Given the description of an element on the screen output the (x, y) to click on. 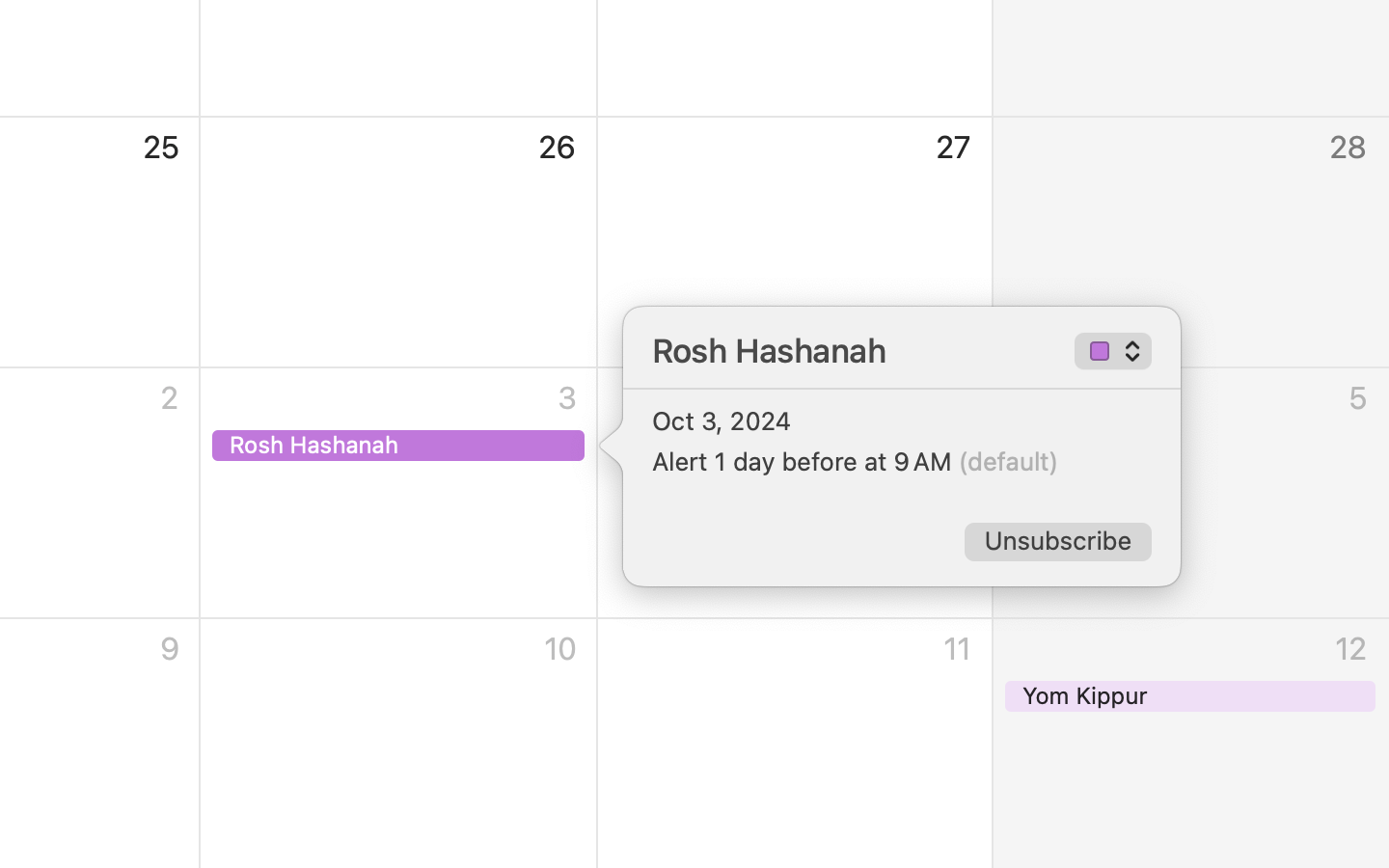
Rosh Hashanah Element type: AXStaticText (859, 350)
US Holidays Element type: AXPopUpButton (1113, 352)
